Given the description of an element on the screen output the (x, y) to click on. 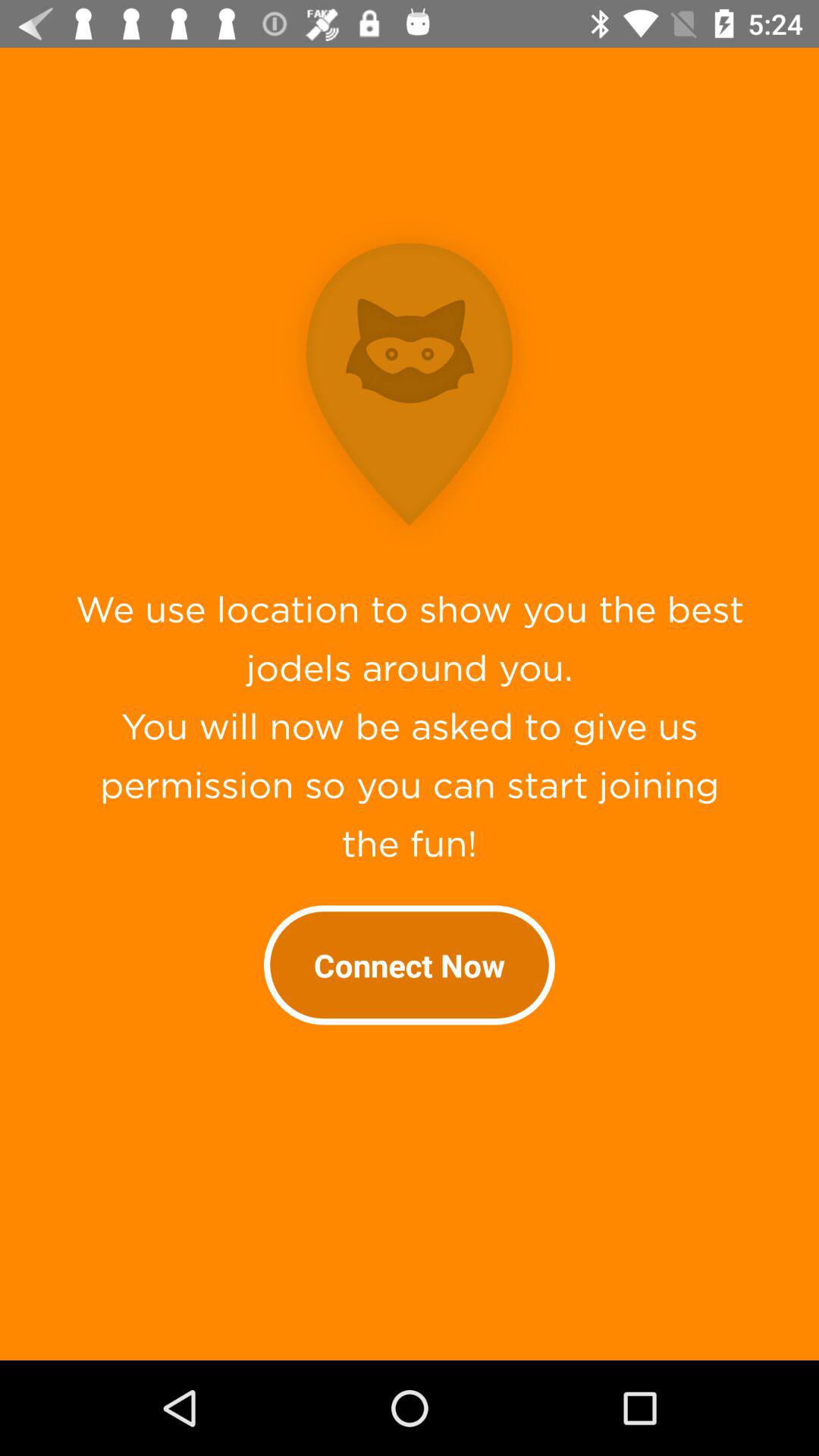
press the icon below we use location icon (409, 964)
